Given the description of an element on the screen output the (x, y) to click on. 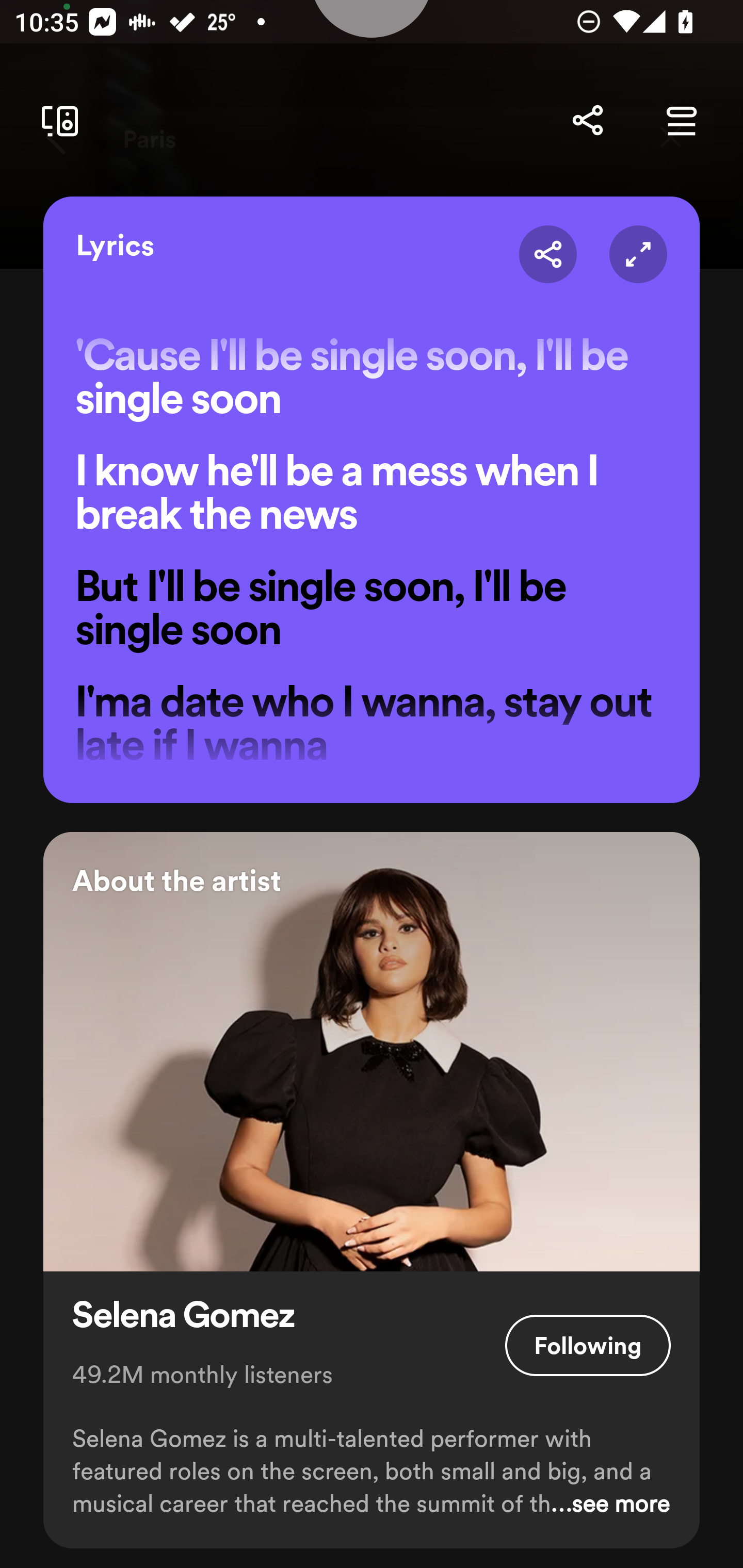
Share (587, 120)
Go to Queue (681, 120)
Connect to a device. Opens the devices menu (55, 120)
Share (547, 254)
Expand (638, 254)
Following Unfollow this Artist (587, 1344)
